Given the description of an element on the screen output the (x, y) to click on. 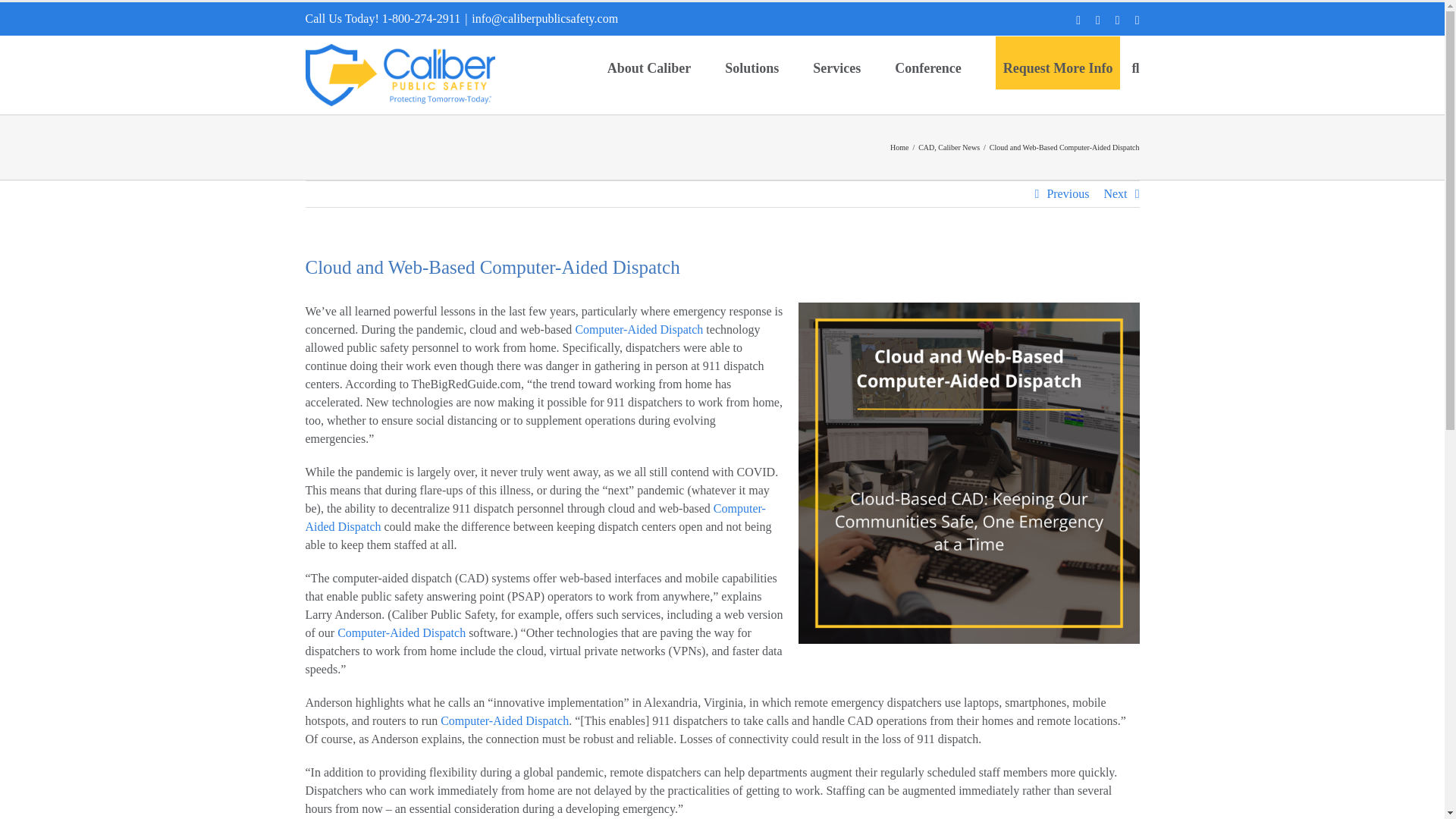
Previous (1067, 193)
Computer-Aided Dispatch (639, 328)
CAD (926, 147)
About Caliber (649, 67)
Caliber News (958, 147)
Computer-Aided Dispatch (401, 632)
Conference (927, 67)
Computer-Aided Dispatch (534, 517)
Next (1114, 193)
Request More Info (1058, 67)
